Given the description of an element on the screen output the (x, y) to click on. 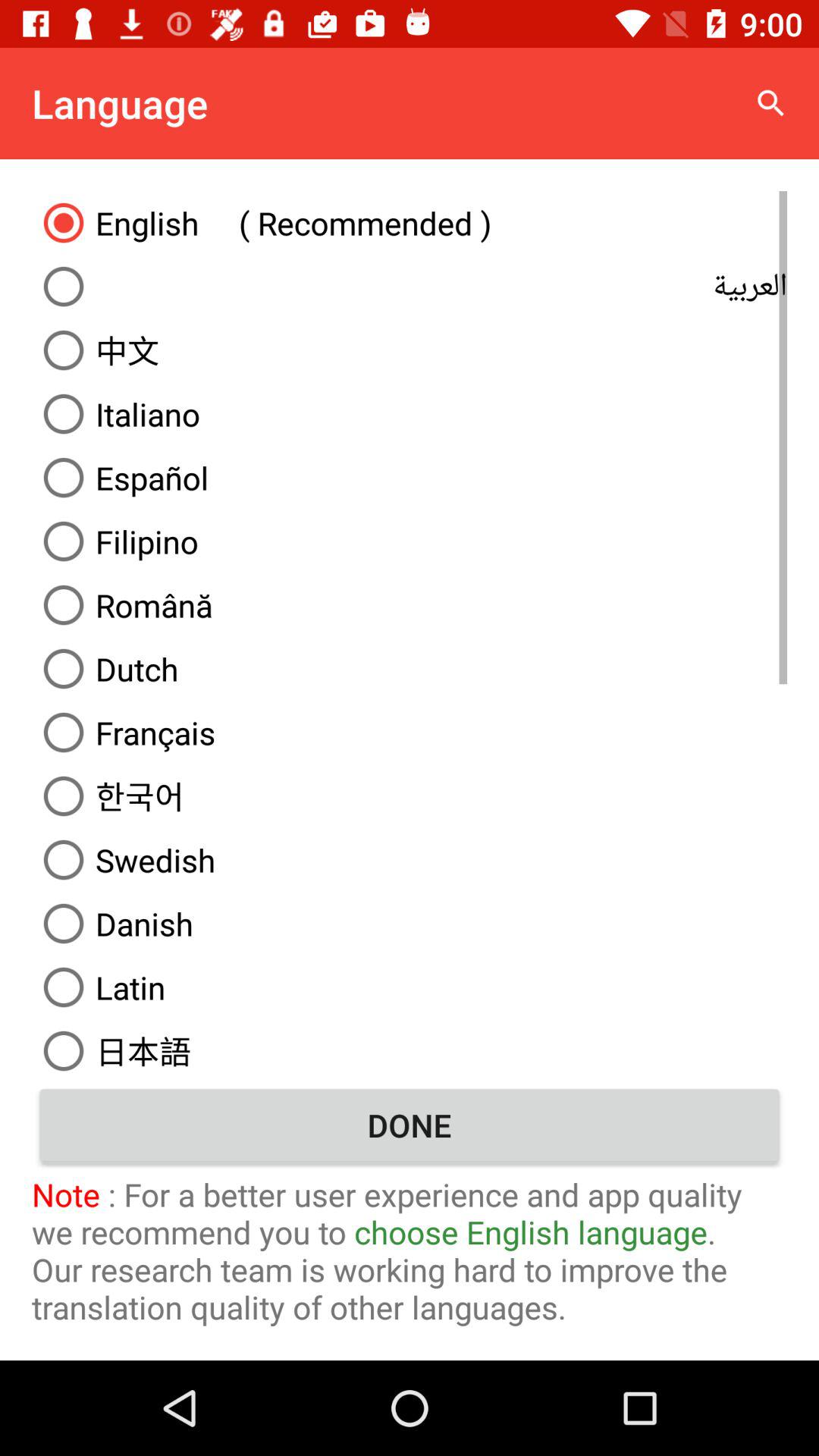
flip until the italiano (409, 413)
